Given the description of an element on the screen output the (x, y) to click on. 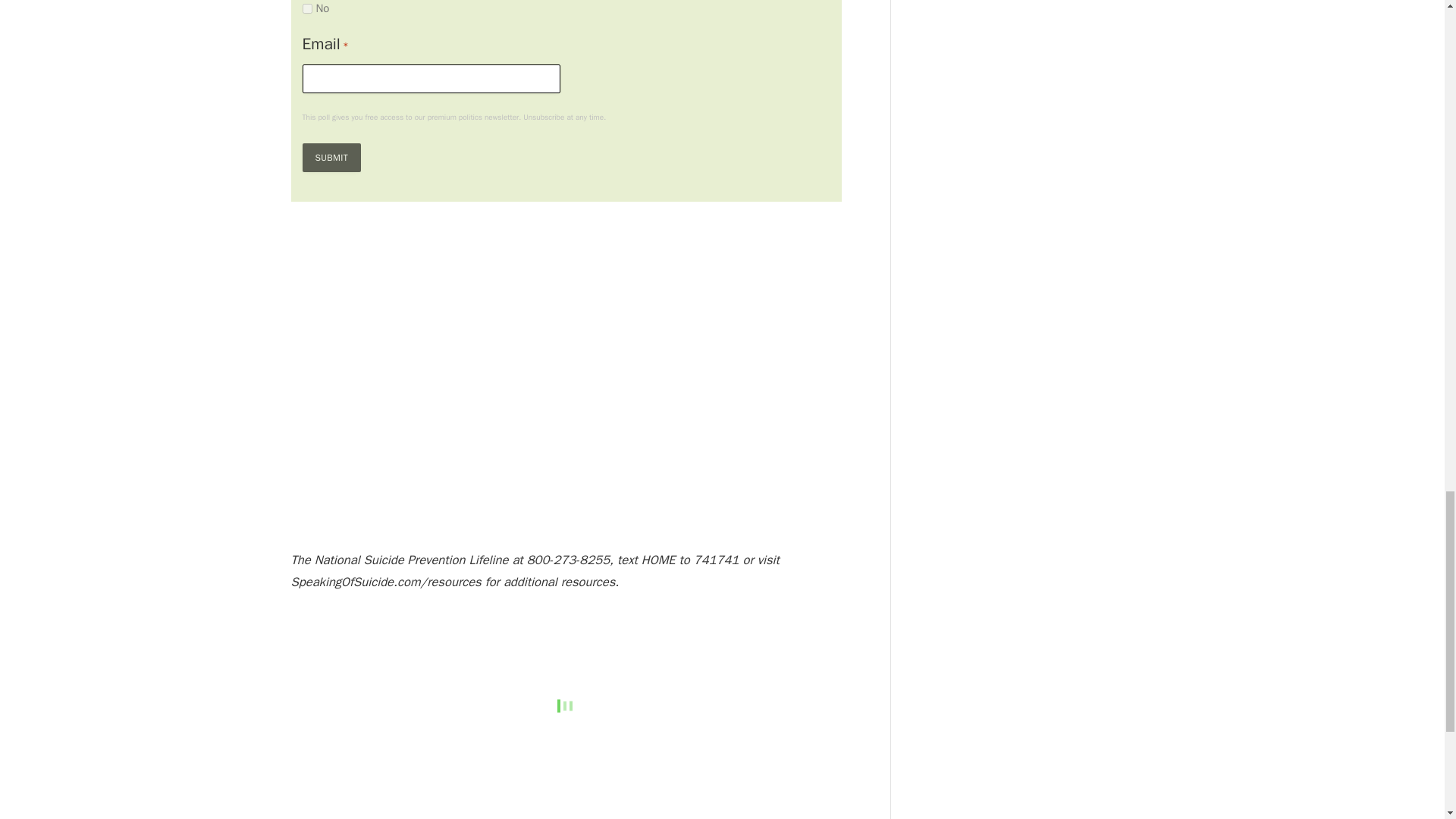
Submit (331, 157)
Submit (331, 157)
gpoll1b2a53ce5 (306, 8)
